Given the description of an element on the screen output the (x, y) to click on. 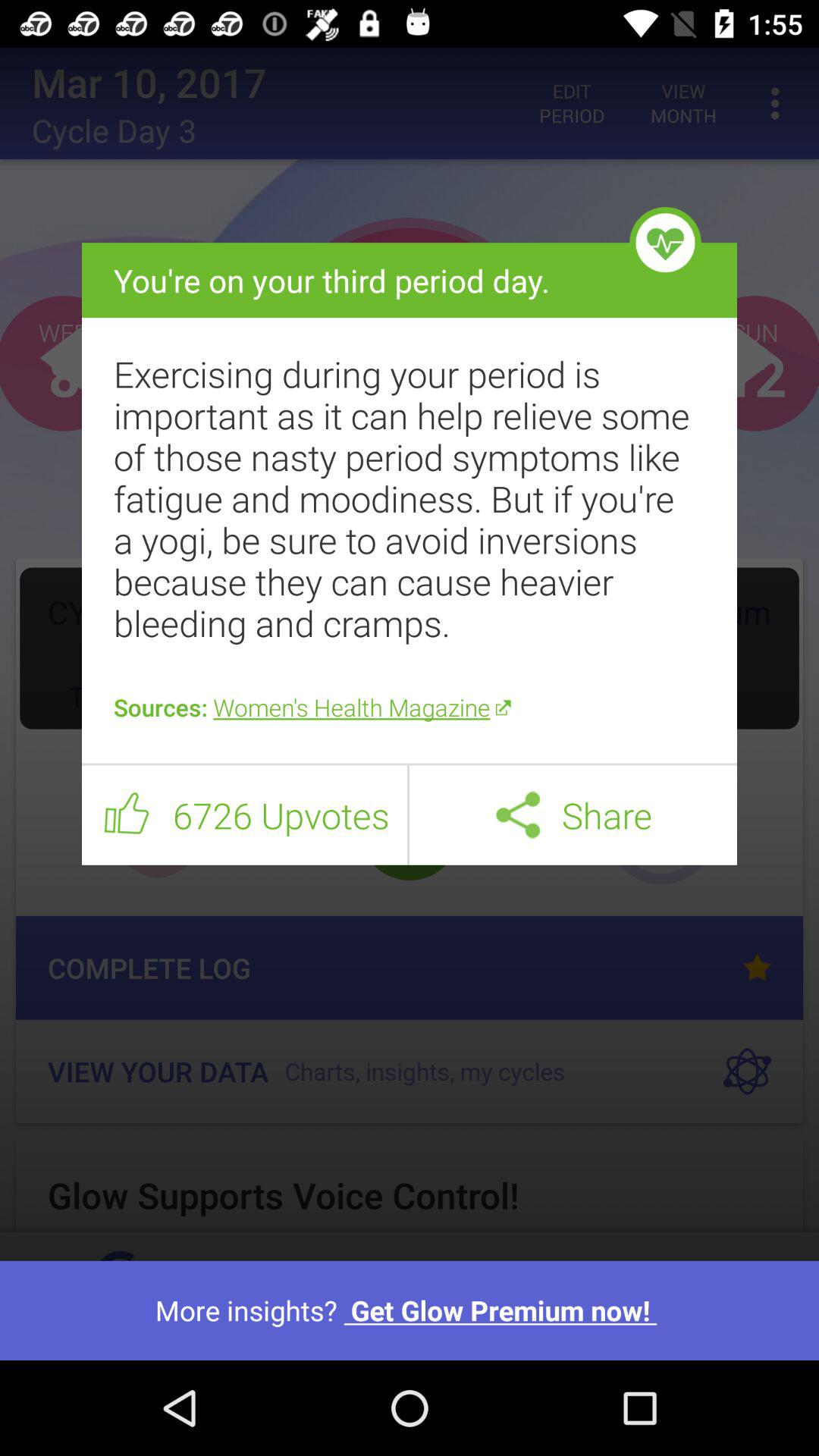
tap icon to the right of 6726 upvotes item (408, 815)
